Given the description of an element on the screen output the (x, y) to click on. 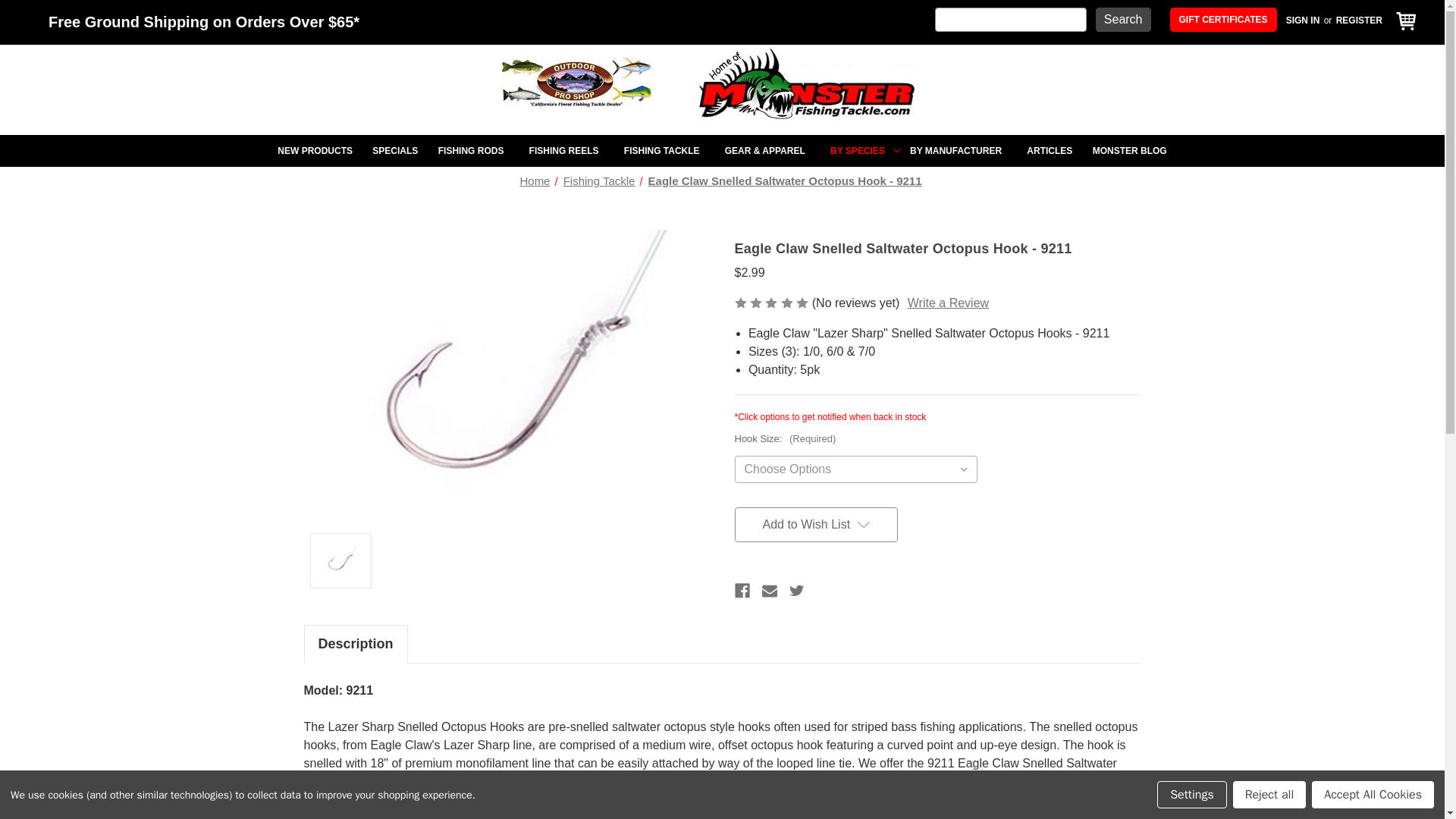
SPECIALS (395, 151)
Search (1123, 19)
Search (1123, 19)
Eagle Claw Snelled Saltwater Octopus Hook - 9211 (506, 371)
NEW PRODUCTS (314, 151)
FISHING REELS (565, 151)
SIGN IN (1302, 20)
GIFT CERTIFICATES (1223, 19)
REGISTER (1358, 20)
Outdoor Pro Shop - MonsterFishingTackle (722, 83)
Search (1123, 19)
FISHING RODS (473, 151)
